Given the description of an element on the screen output the (x, y) to click on. 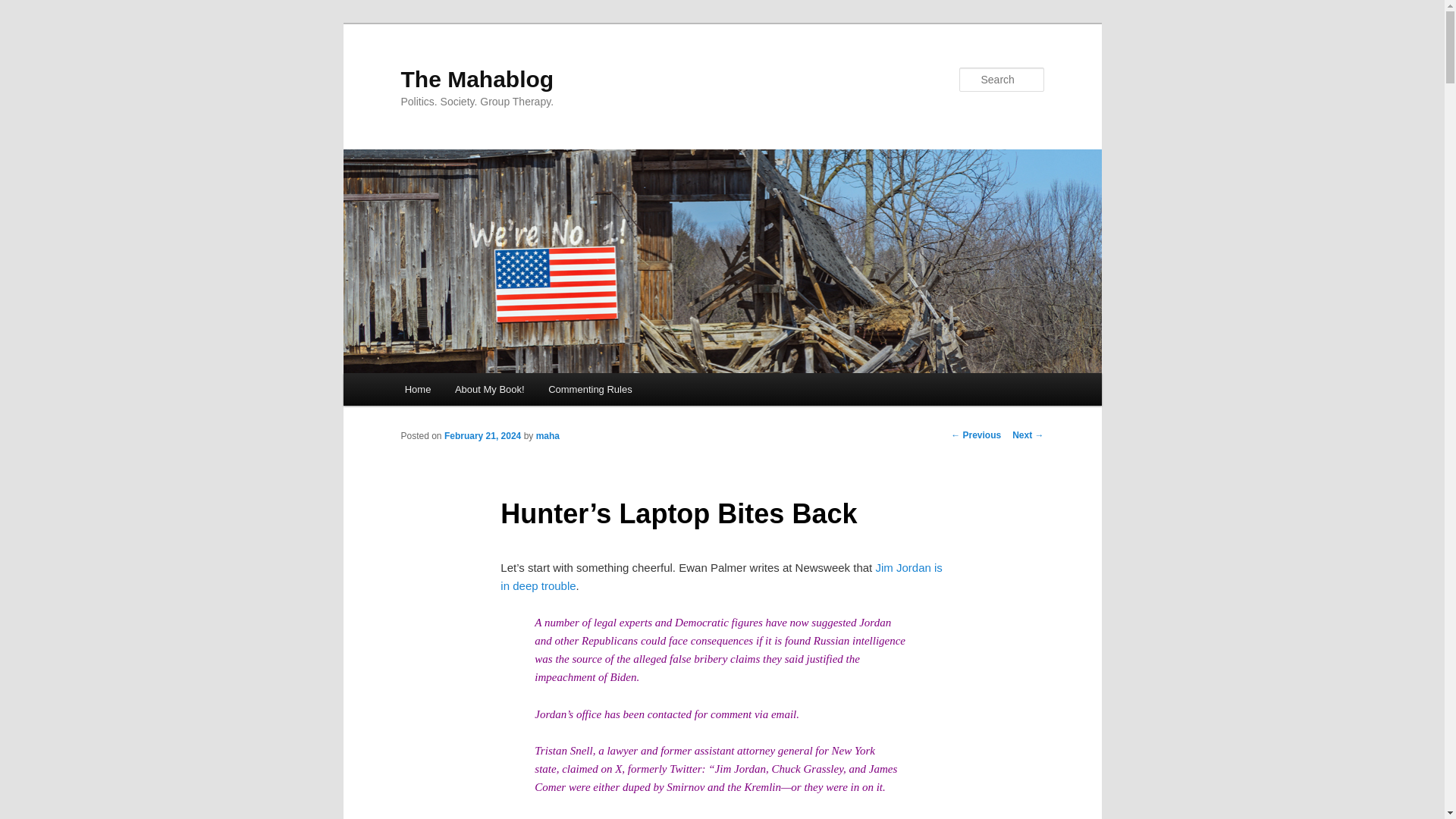
Chuck Grassley (807, 768)
View all posts by maha (547, 435)
Search (24, 8)
About My Book! (488, 389)
Commenting Rules (589, 389)
The Mahablog (476, 78)
maha (547, 435)
February 21, 2024 (482, 435)
Republicans (608, 640)
claimed on X (591, 768)
Home (417, 389)
3:45 pm (482, 435)
Jim Jordan is in deep trouble (721, 576)
